Given the description of an element on the screen output the (x, y) to click on. 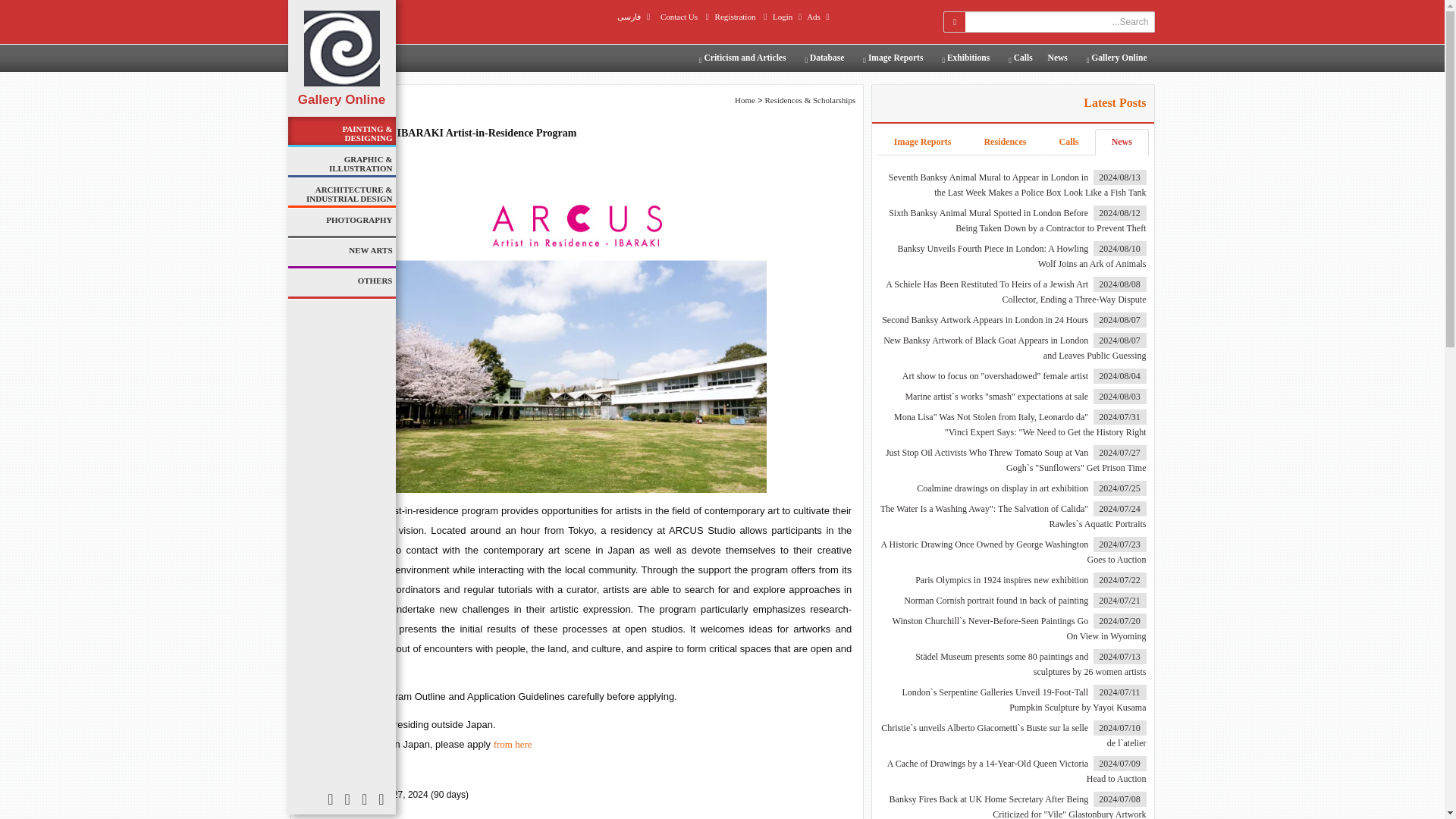
Calls (1018, 58)
News (1058, 58)
Gallery Online (1114, 58)
Exhibitions (963, 58)
